Given the description of an element on the screen output the (x, y) to click on. 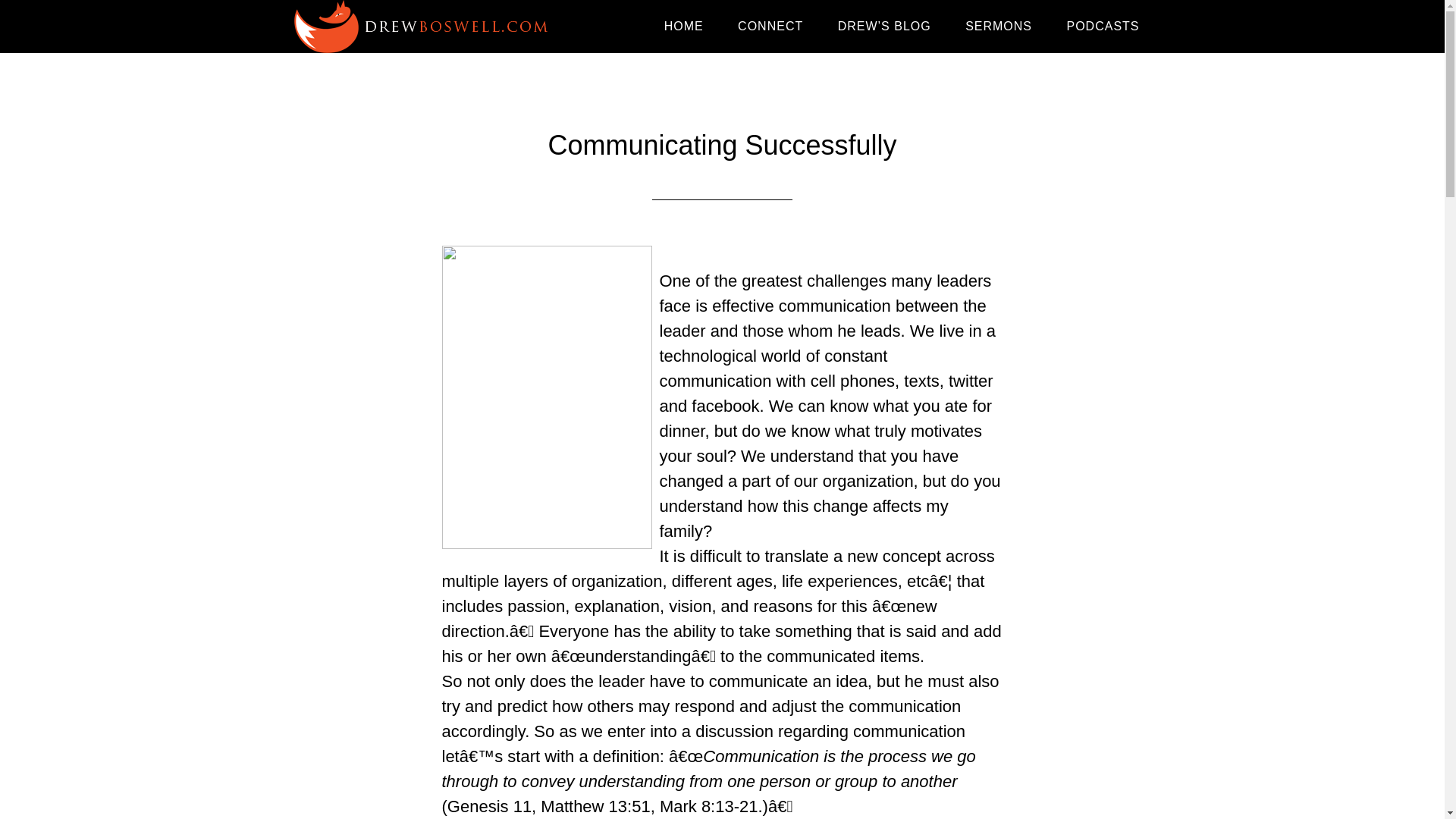
SERMONS (998, 26)
PODCASTS (1102, 26)
HOME (684, 26)
CONNECT (770, 26)
DREW BOSWELL (425, 26)
